Given the description of an element on the screen output the (x, y) to click on. 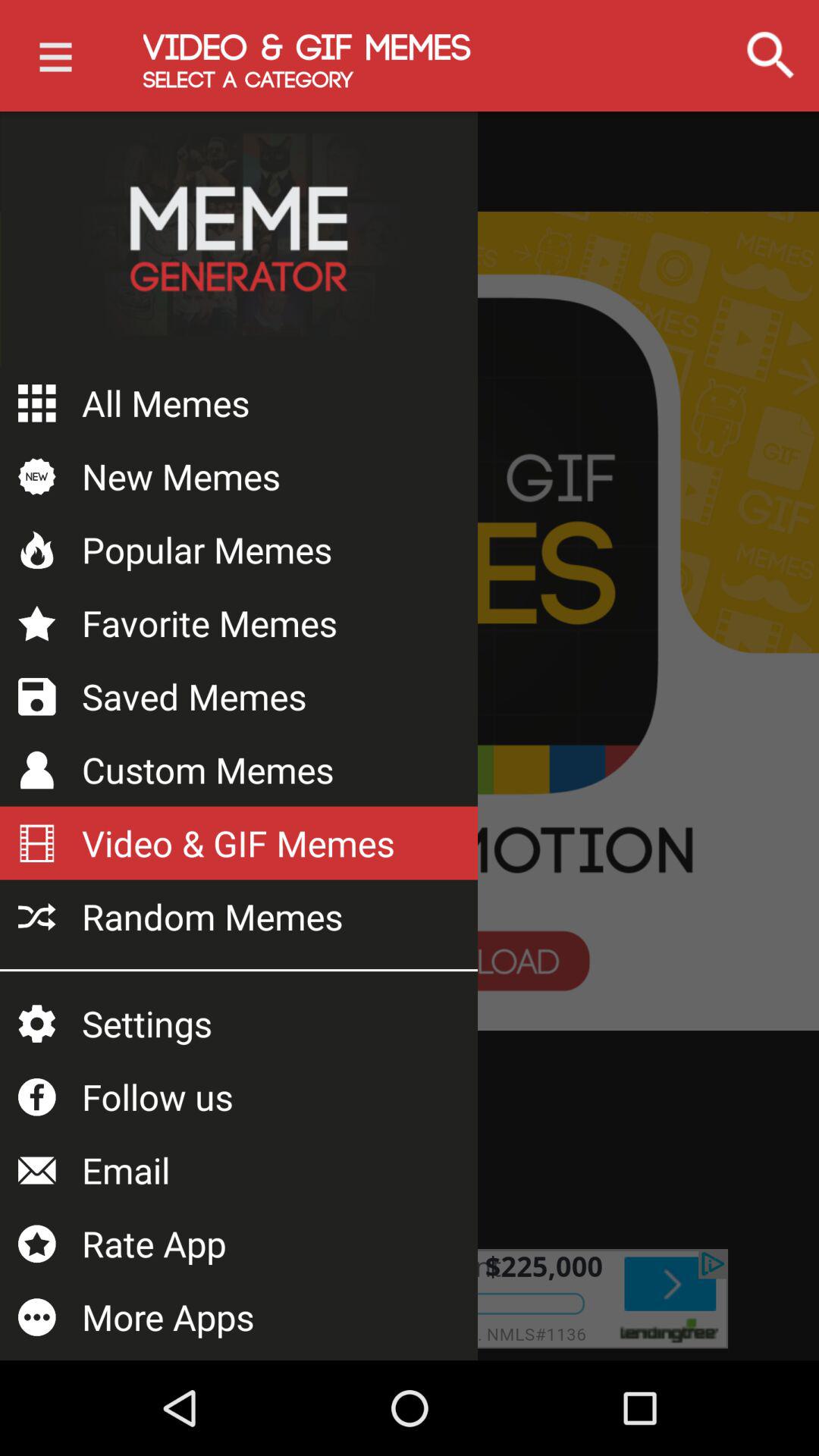
click on the icon beside popular memes (37, 549)
select the icon which is left side of the email (37, 1170)
select the icon which is left side of the follow us (37, 1096)
